Given the description of an element on the screen output the (x, y) to click on. 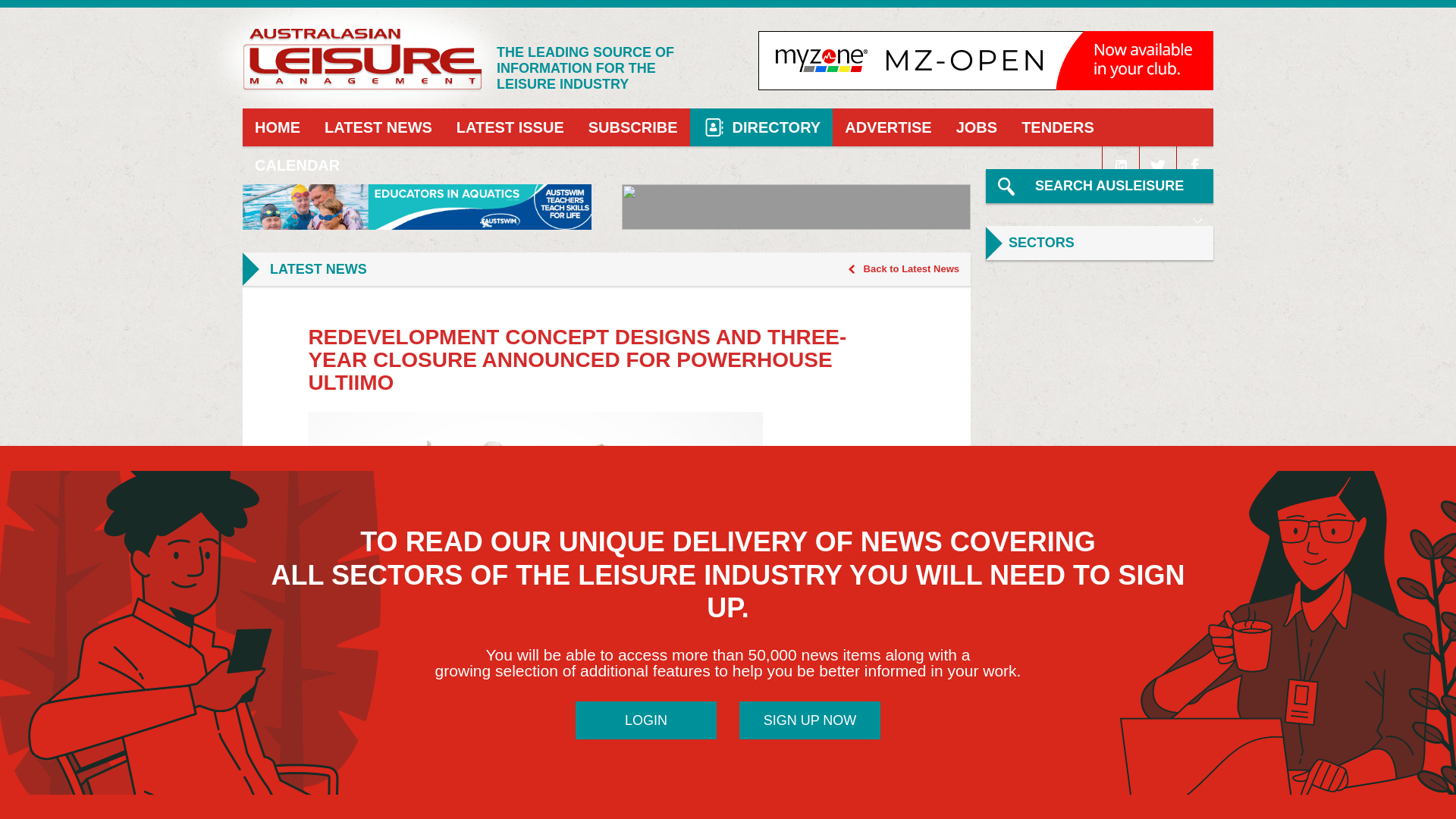
Advertisement (1098, 585)
Advertisement (1098, 377)
Advertisement (1098, 759)
